Given the description of an element on the screen output the (x, y) to click on. 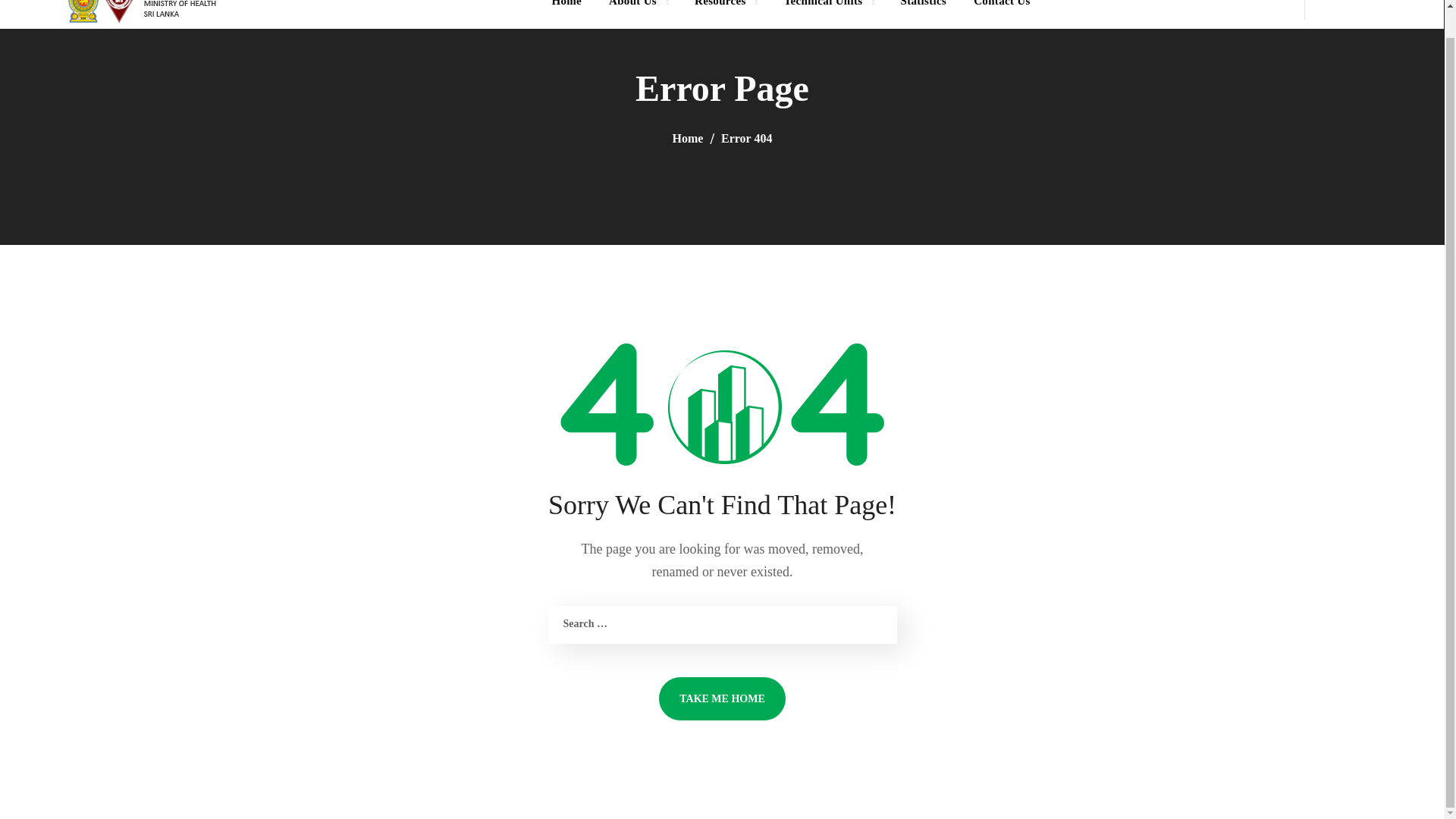
Technical Units (828, 14)
Resources (725, 14)
Statistics (922, 14)
About Us (638, 14)
Contact Us (1001, 14)
Search (1381, 66)
Home (566, 14)
FHBlogo11 (146, 12)
